Given the description of an element on the screen output the (x, y) to click on. 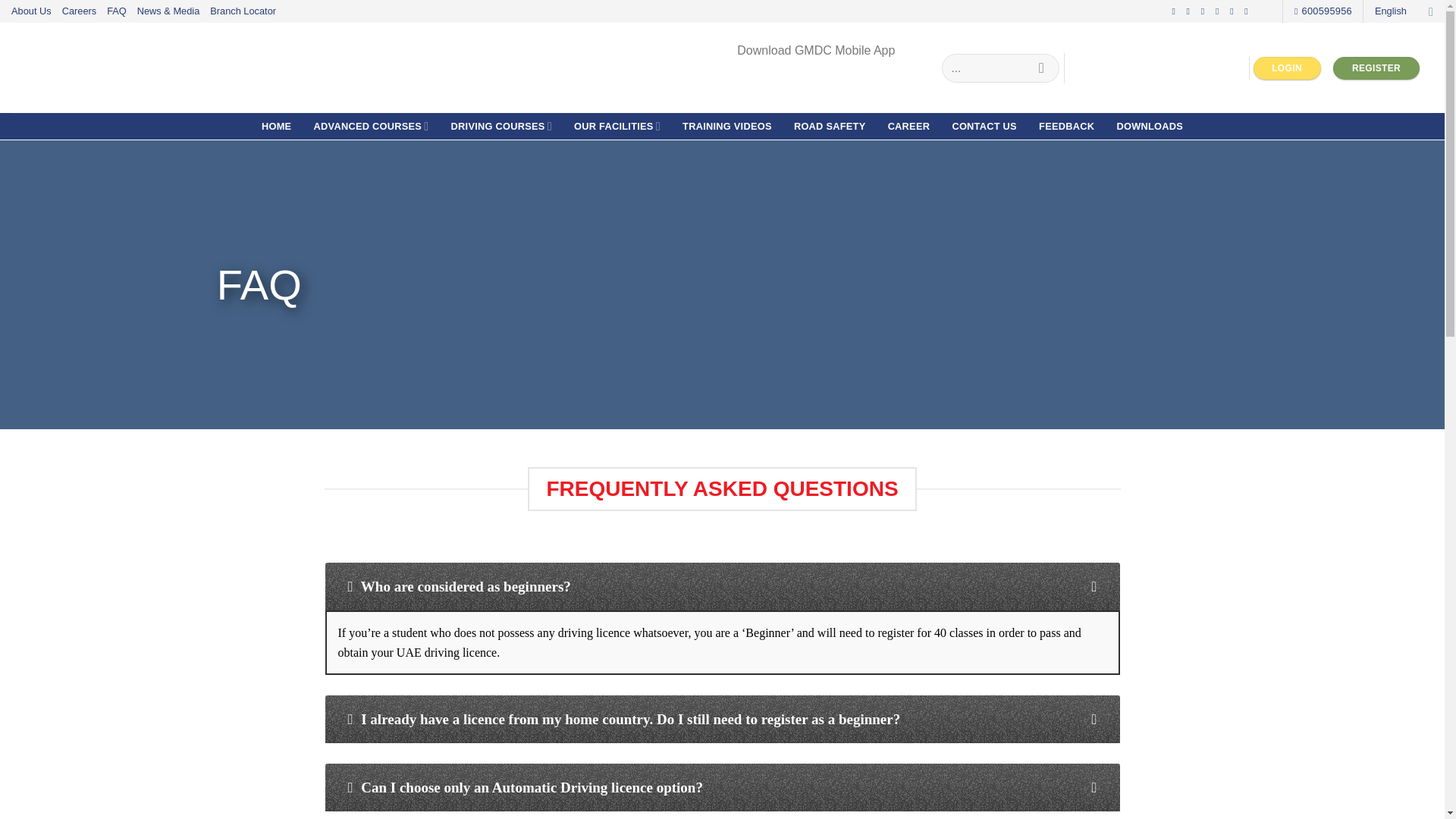
Follow on LinkedIn (1234, 10)
Follow on Facebook (1176, 10)
Follow on Twitter (1219, 10)
English (1403, 11)
HOME (275, 126)
REGISTER (1376, 68)
ADVANCED COURSES (370, 126)
GMDC - Galadari Motor Driving Centre (147, 67)
Branch Locator (242, 11)
FAQ (116, 11)
Follow on YouTube (1248, 10)
DRIVING COURSES (501, 126)
Follow on TikTok (1205, 10)
600595956 (1323, 11)
LOGIN (1286, 68)
